Given the description of an element on the screen output the (x, y) to click on. 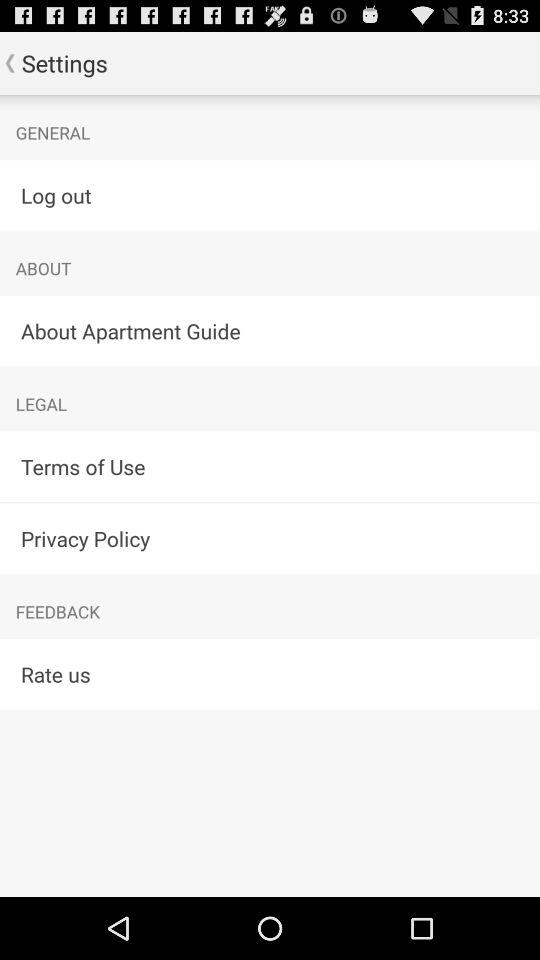
choose terms of use app (270, 466)
